Given the description of an element on the screen output the (x, y) to click on. 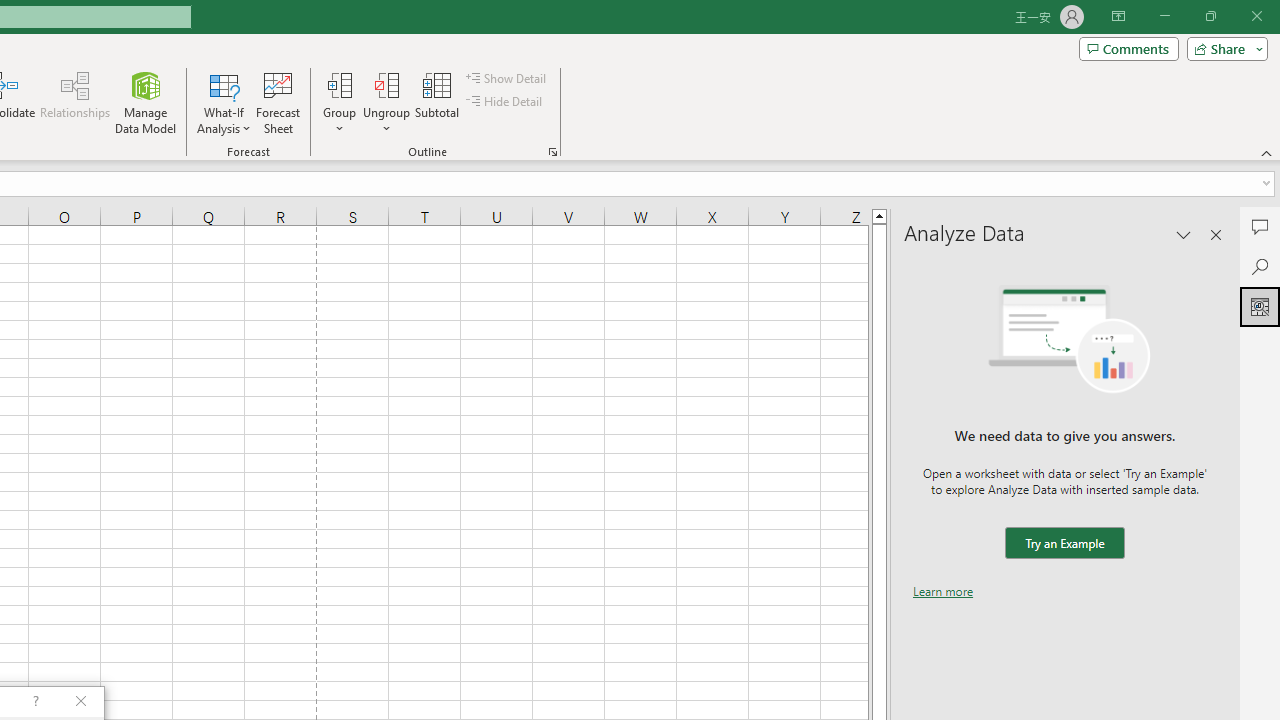
Group and Outline Settings (552, 151)
Search (1260, 266)
Learn more (943, 591)
Hide Detail (505, 101)
Relationships (75, 102)
